Given the description of an element on the screen output the (x, y) to click on. 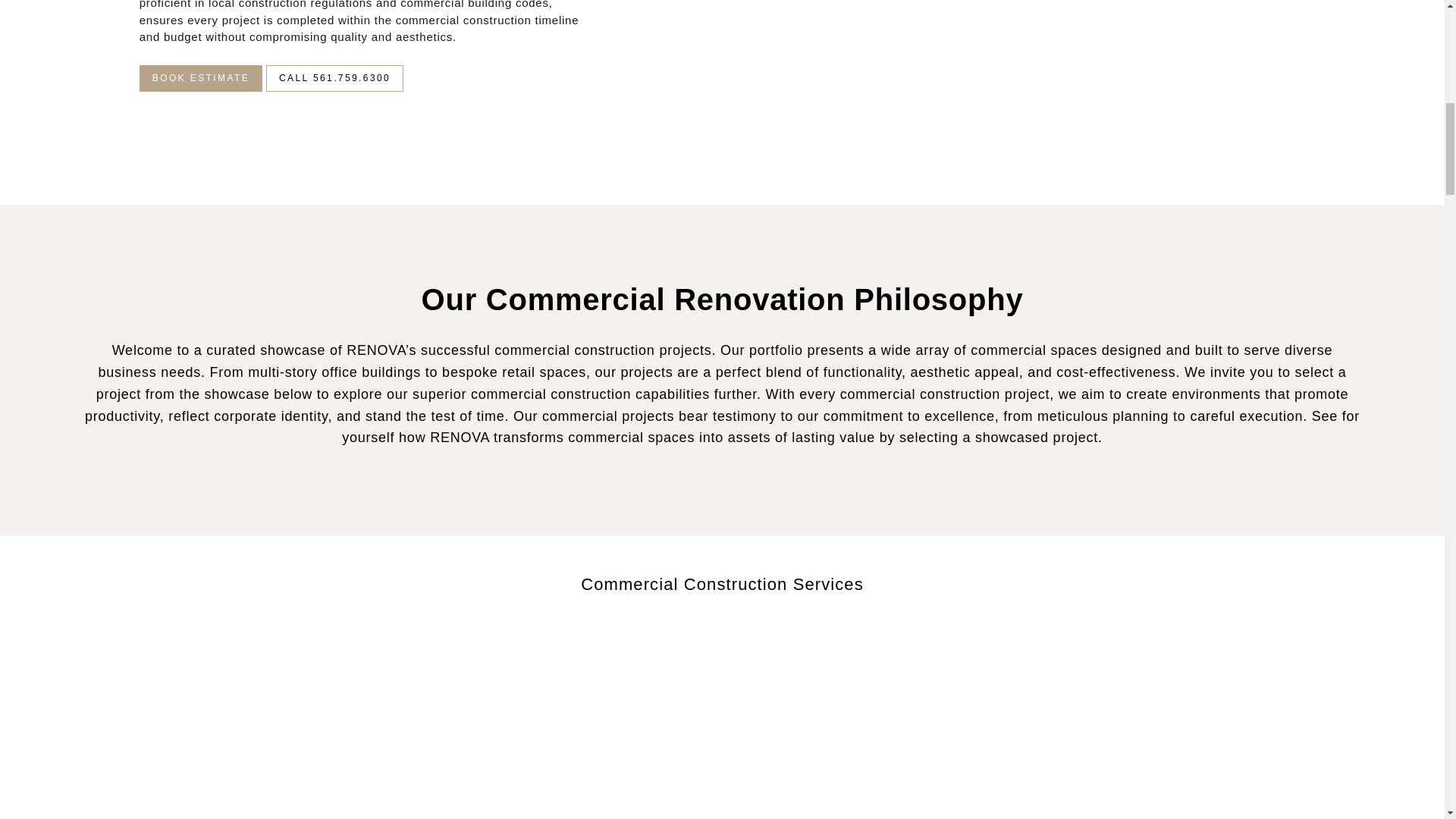
CALL 561.759.6300 (334, 78)
BOOK ESTIMATE (200, 78)
